Given the description of an element on the screen output the (x, y) to click on. 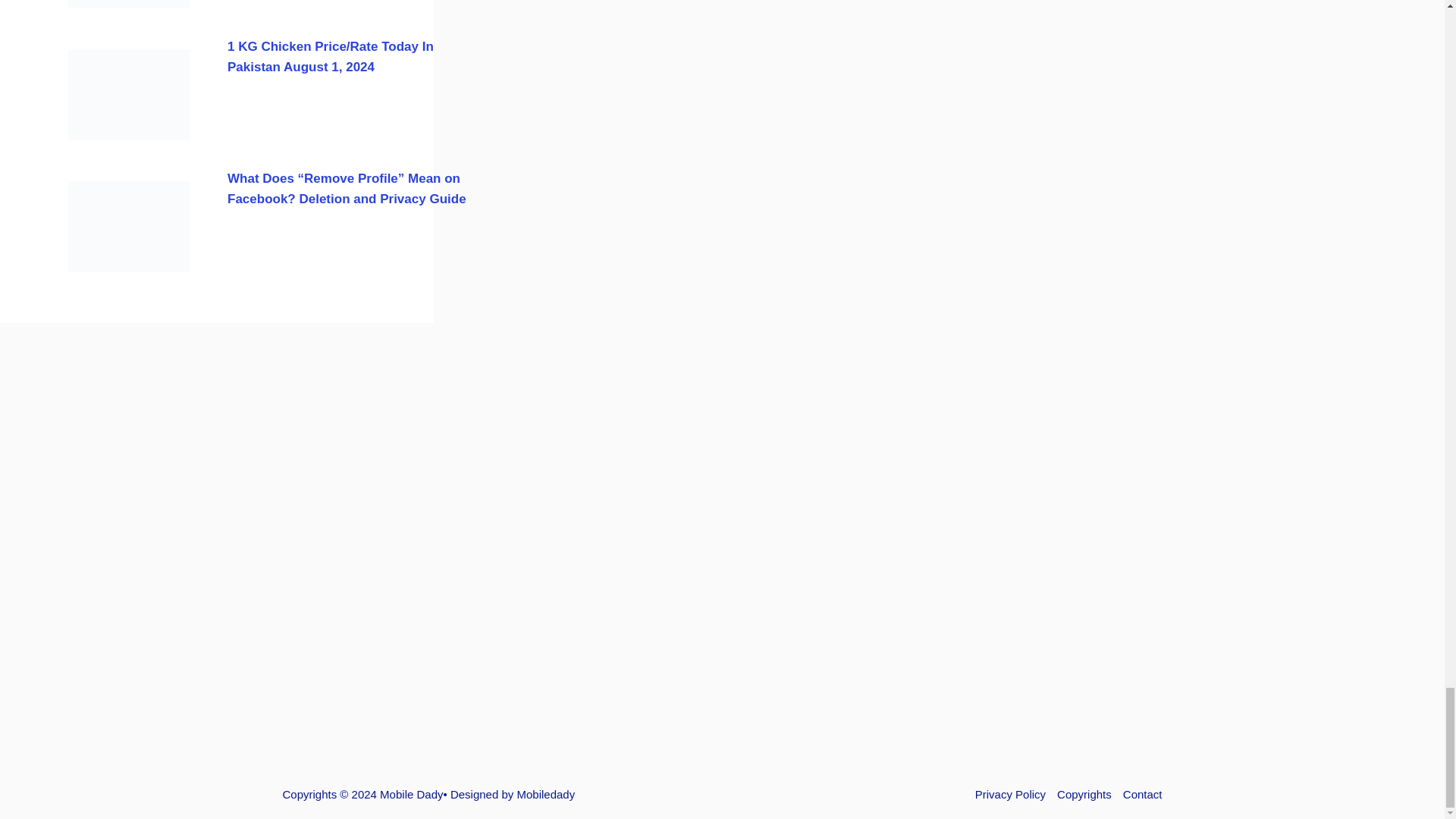
Copyrights (1084, 794)
Mobiledady (545, 793)
Privacy Policy (1010, 794)
